Given the description of an element on the screen output the (x, y) to click on. 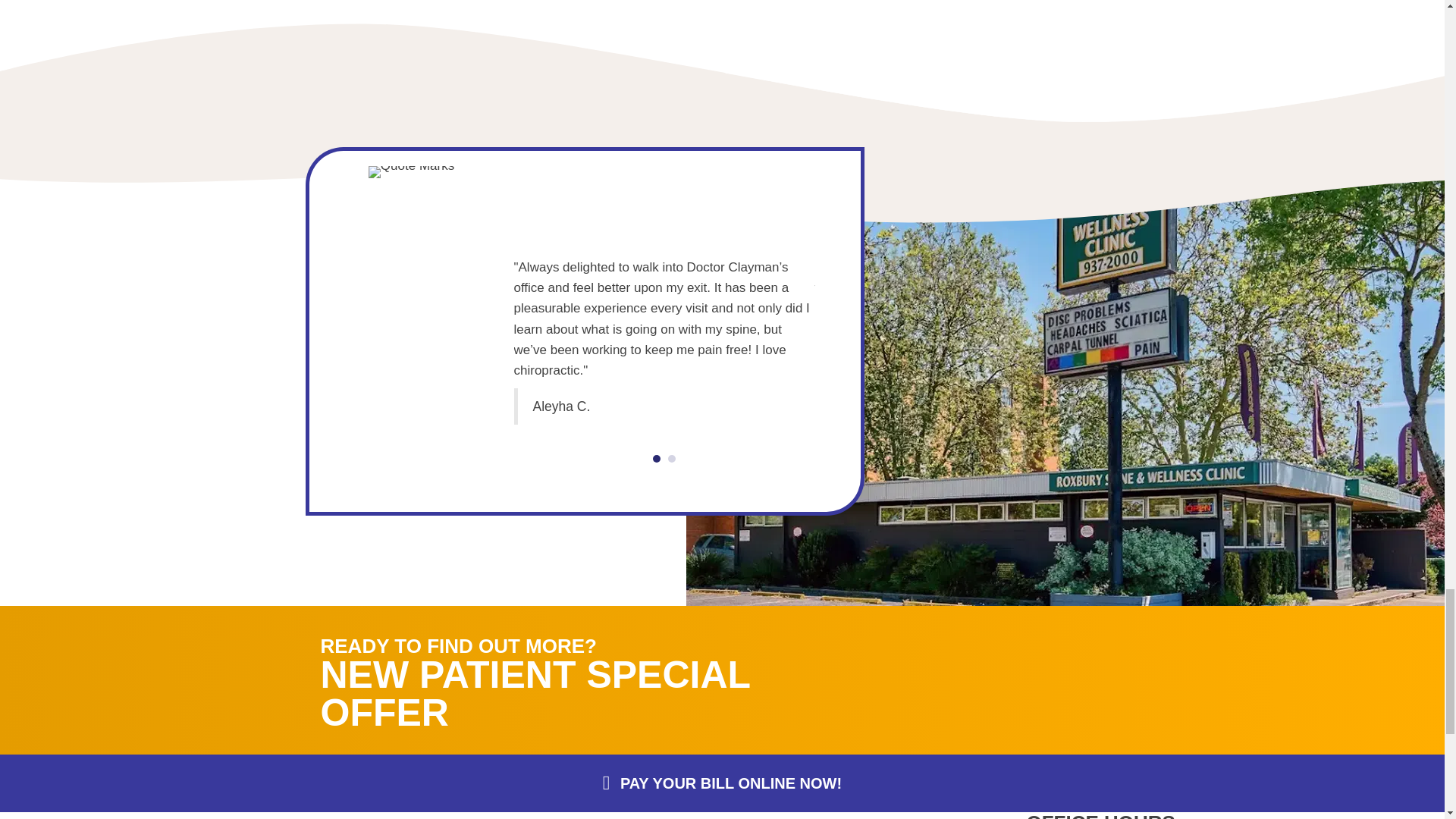
Quote Marks (411, 172)
